Given the description of an element on the screen output the (x, y) to click on. 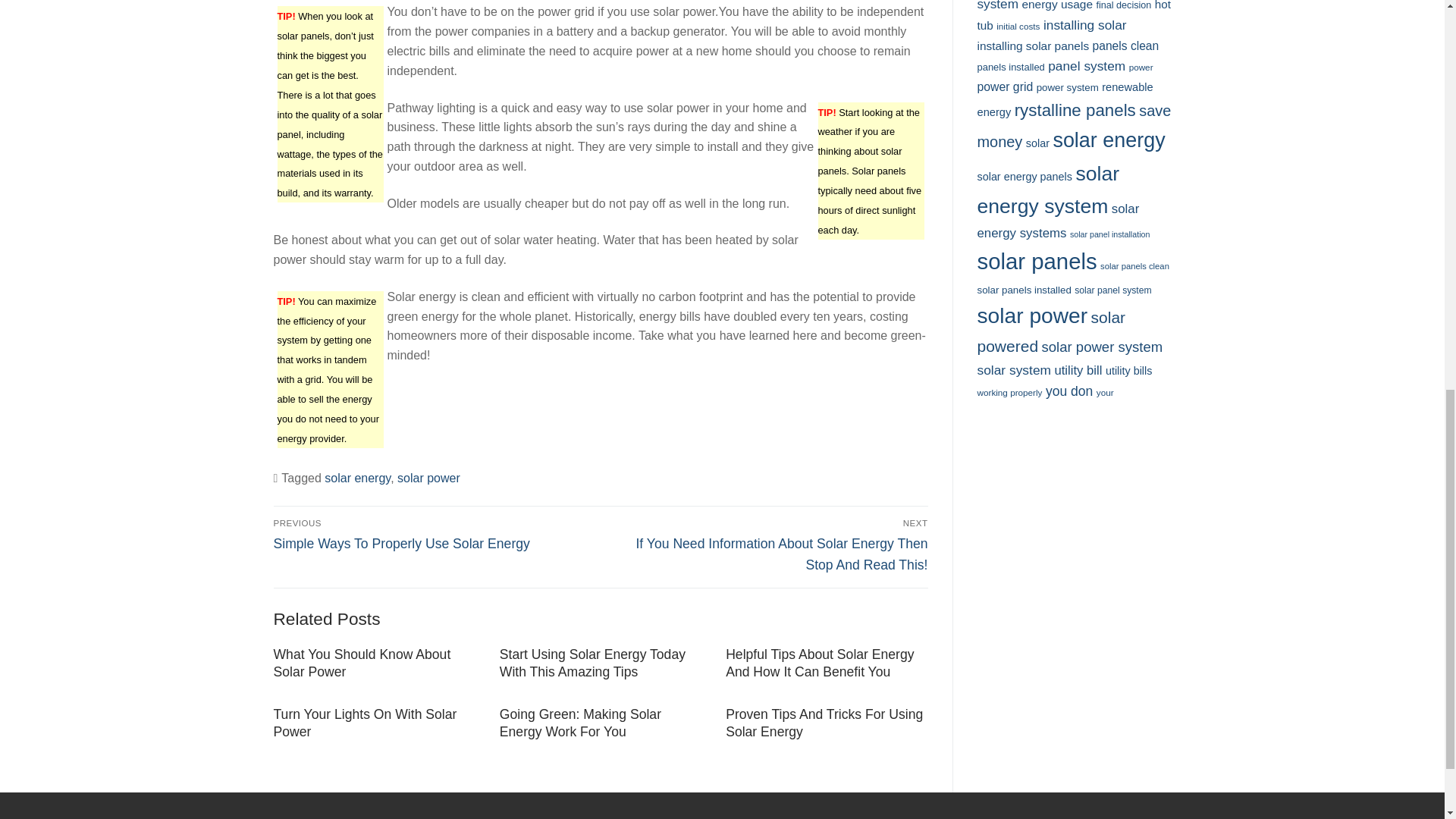
What You Should Know About Solar Power (361, 663)
What You Should Know About Solar Power (361, 663)
Proven Tips And Tricks For Using Solar Energy (824, 722)
solar power (428, 477)
Helpful Tips About Solar Energy And How It Can Benefit You (819, 663)
Going Green: Making Solar Energy Work For You (580, 722)
Turn Your Lights On With Solar Power (365, 722)
Proven Tips And Tricks For Using Solar Energy (824, 722)
solar energy (357, 477)
Helpful Tips About Solar Energy And How It Can Benefit You (819, 663)
Start Using Solar Energy Today With This Amazing Tips (592, 663)
Start Using Solar Energy Today With This Amazing Tips (592, 663)
Turn Your Lights On With Solar Power (365, 722)
